Given the description of an element on the screen output the (x, y) to click on. 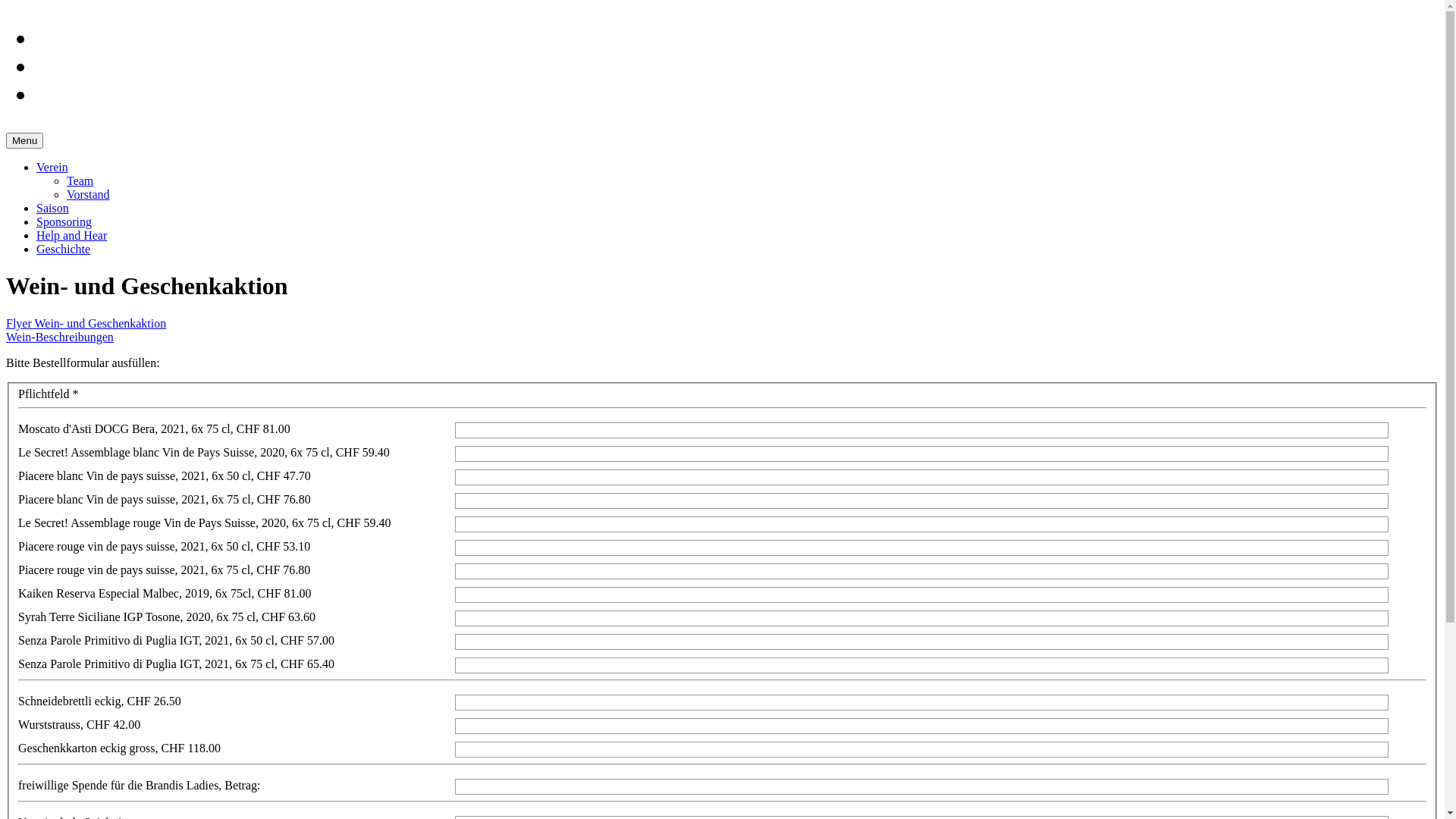
Flyer Wein- und Geschenkaktion Element type: text (86, 322)
Sponsoring Element type: text (63, 221)
Geschichte Element type: text (63, 248)
Wein-Beschreibungen Element type: text (59, 336)
Saison Element type: text (52, 207)
Verein Element type: text (52, 166)
Vorstand Element type: text (87, 194)
Help and Hear Element type: text (71, 235)
Team Element type: text (79, 180)
Menu Element type: text (24, 140)
